Given the description of an element on the screen output the (x, y) to click on. 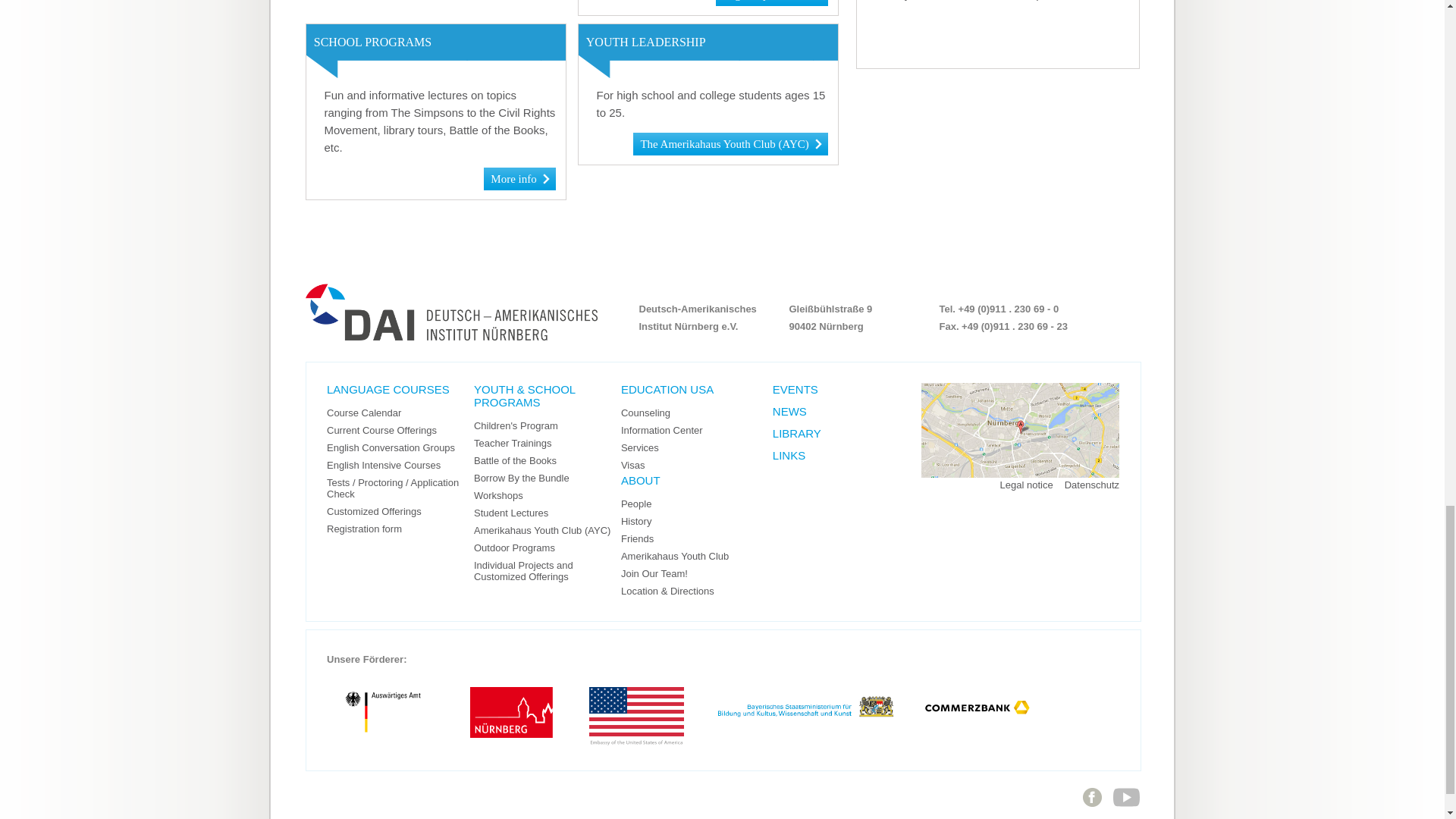
Opens internal link in current window (730, 142)
Youtube Channel (1126, 811)
